Given the description of an element on the screen output the (x, y) to click on. 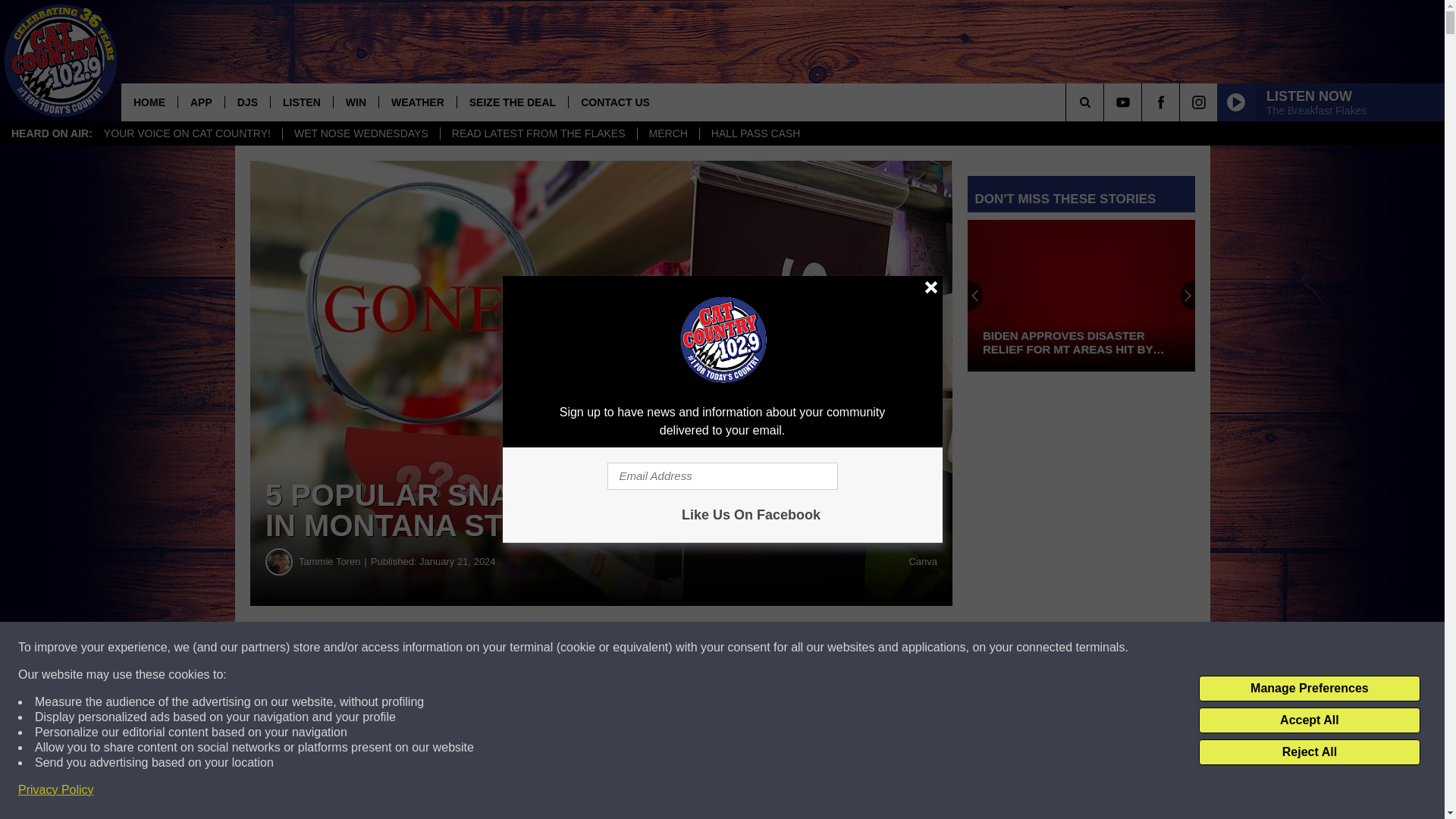
DJS (246, 102)
READ LATEST FROM THE FLAKES (538, 133)
WET NOSE WEDNESDAYS (360, 133)
HALL PASS CASH (755, 133)
Share on Facebook (460, 647)
Accept All (1309, 720)
APP (200, 102)
Share on Twitter (741, 647)
YOUR VOICE ON CAT COUNTRY! (187, 133)
Reject All (1309, 751)
MERCH (667, 133)
Privacy Policy (55, 789)
SEARCH (1106, 102)
Email Address (722, 475)
SEARCH (1106, 102)
